Given the description of an element on the screen output the (x, y) to click on. 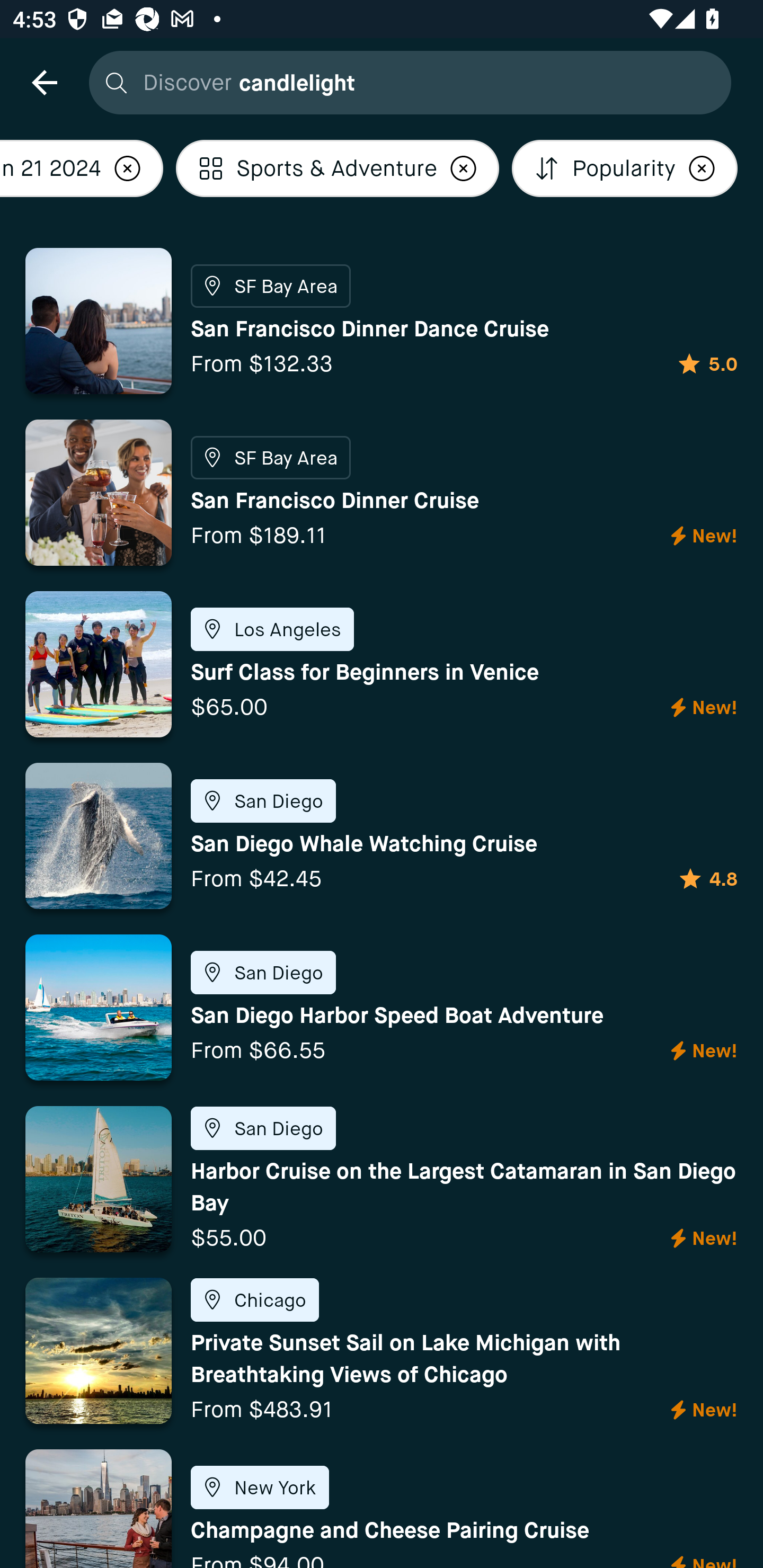
navigation icon (44, 81)
Discover candlelight (405, 81)
Jun 21 2024 Localized description (81, 168)
Localized description (127, 168)
Localized description (463, 168)
Localized description (701, 168)
